Given the description of an element on the screen output the (x, y) to click on. 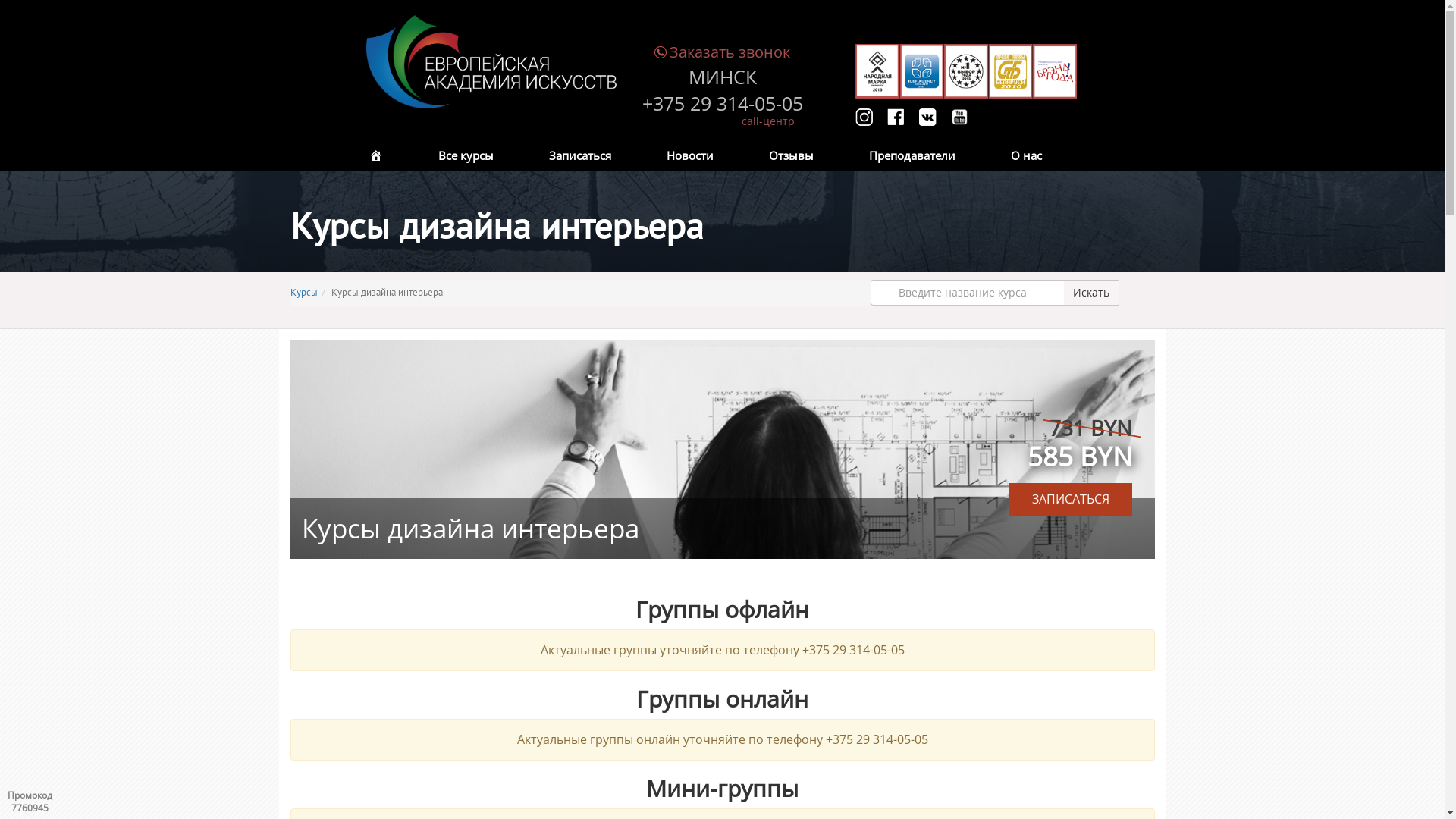
+375 29 314-05-05 Element type: text (721, 103)
